Given the description of an element on the screen output the (x, y) to click on. 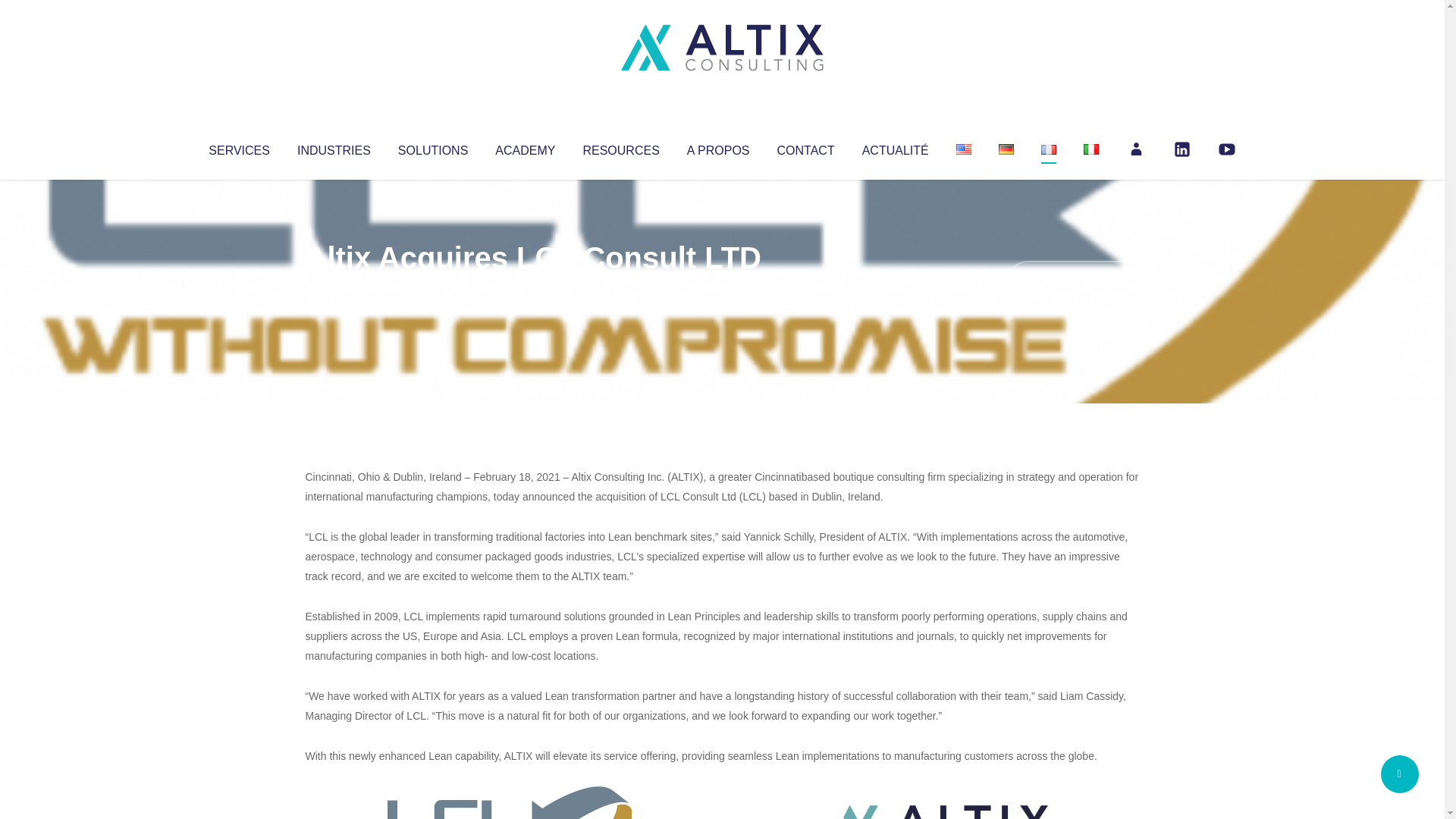
SERVICES (238, 146)
ACADEMY (524, 146)
Articles par Altix (333, 287)
A PROPOS (718, 146)
RESOURCES (620, 146)
INDUSTRIES (334, 146)
SOLUTIONS (432, 146)
No Comments (1073, 278)
Uncategorized (530, 287)
Altix (333, 287)
